Given the description of an element on the screen output the (x, y) to click on. 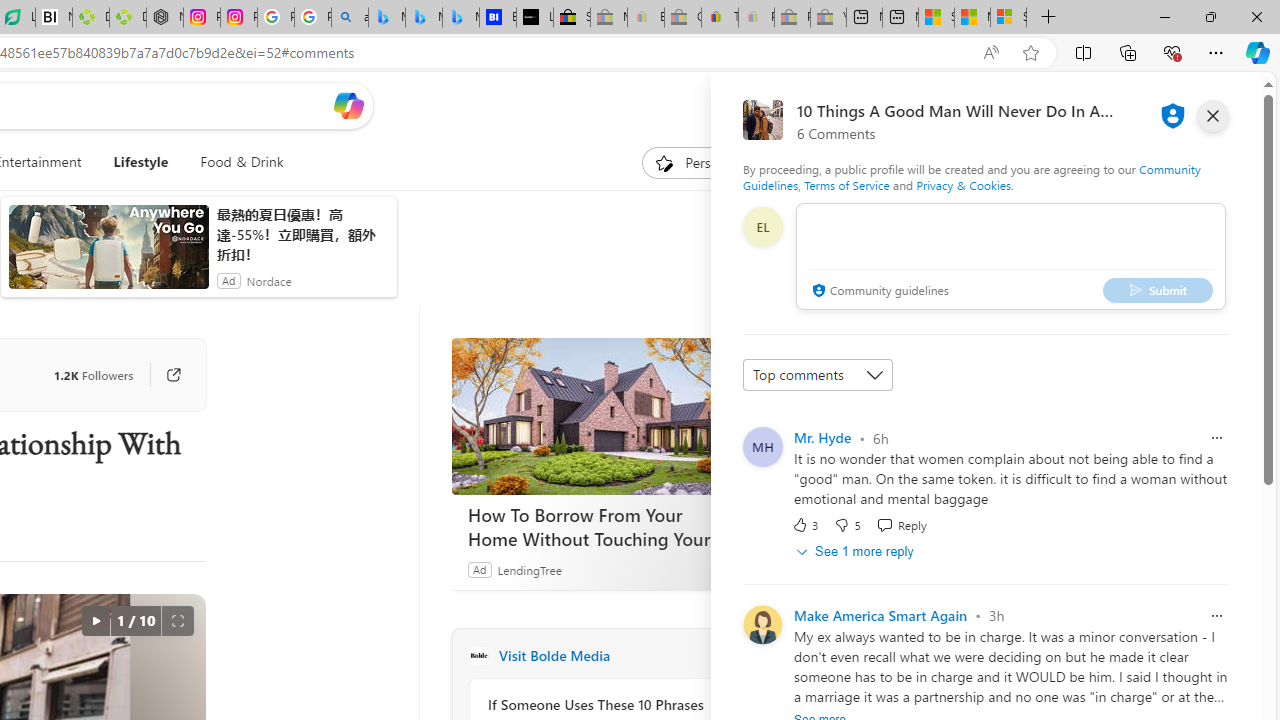
Go to publisher's site (163, 374)
Privacy & Cookies (964, 184)
Open settings (1216, 105)
Terms of Service (846, 184)
Ad (479, 569)
Microsoft Bing Travel - Shangri-La Hotel Bangkok (460, 17)
Community Guidelines (971, 176)
Nordace - Nordace Edin Collection (165, 17)
close (1212, 115)
How To Borrow From Your Home Without Touching Your Mortgage (601, 526)
